Given the description of an element on the screen output the (x, y) to click on. 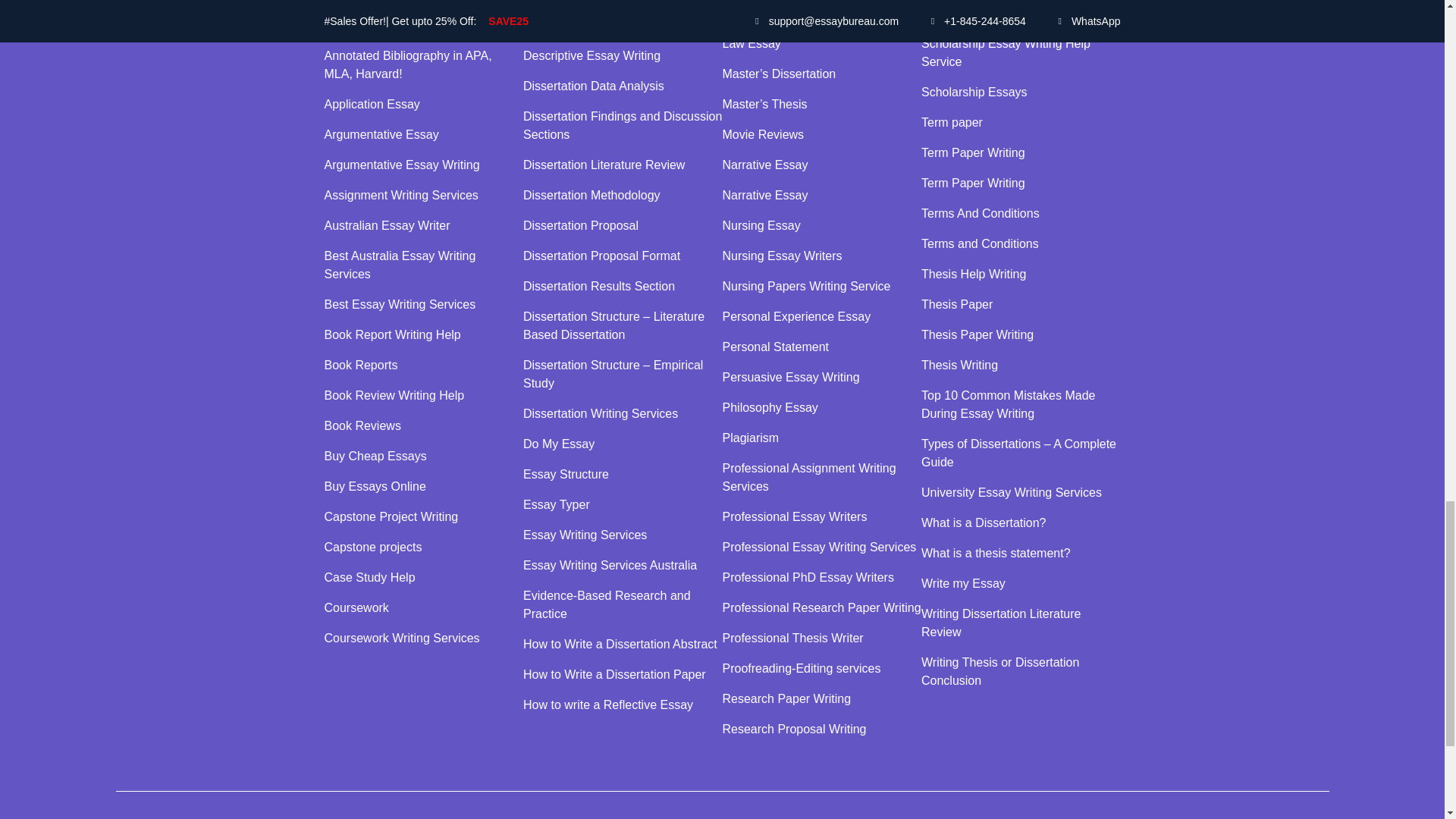
Argumentative Essay Writing (424, 165)
Application Essay (424, 104)
Assignment Help (424, 2)
Annotated Bibliography in APA, MLA, Harvard! (424, 64)
Argumentative Essay (424, 135)
Admission Essay writing (424, 25)
